Given the description of an element on the screen output the (x, y) to click on. 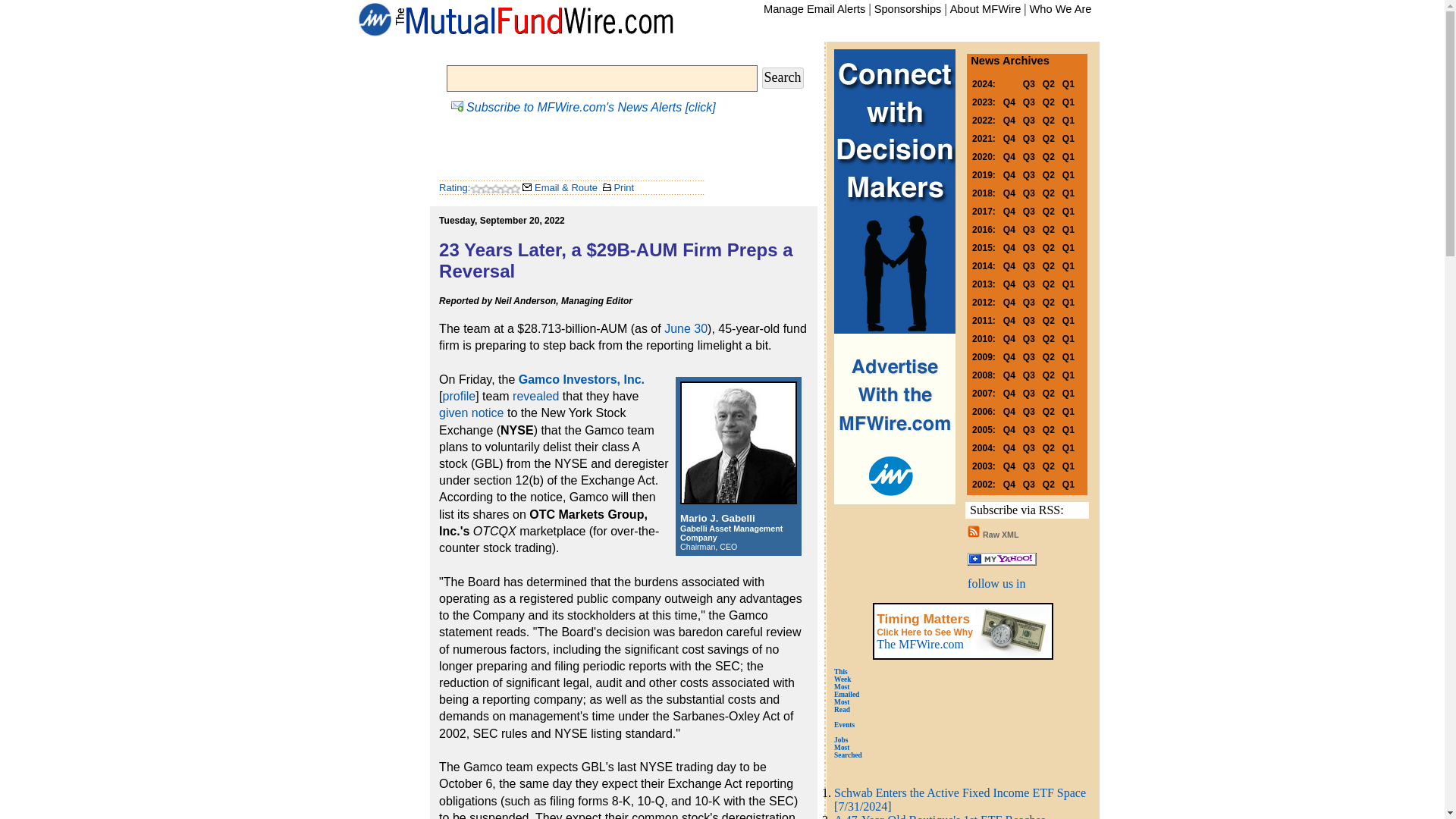
Search (782, 77)
Print (617, 187)
Q3 (1029, 119)
Q1 (1068, 119)
Sponsorships (908, 8)
Search (782, 77)
Rating: (454, 187)
June 30 (685, 328)
Q2 (1048, 119)
Q3 (1029, 101)
Q4 (1008, 119)
profile (459, 395)
Q4 (1008, 101)
given notice (471, 412)
Q3 (1029, 82)
